Given the description of an element on the screen output the (x, y) to click on. 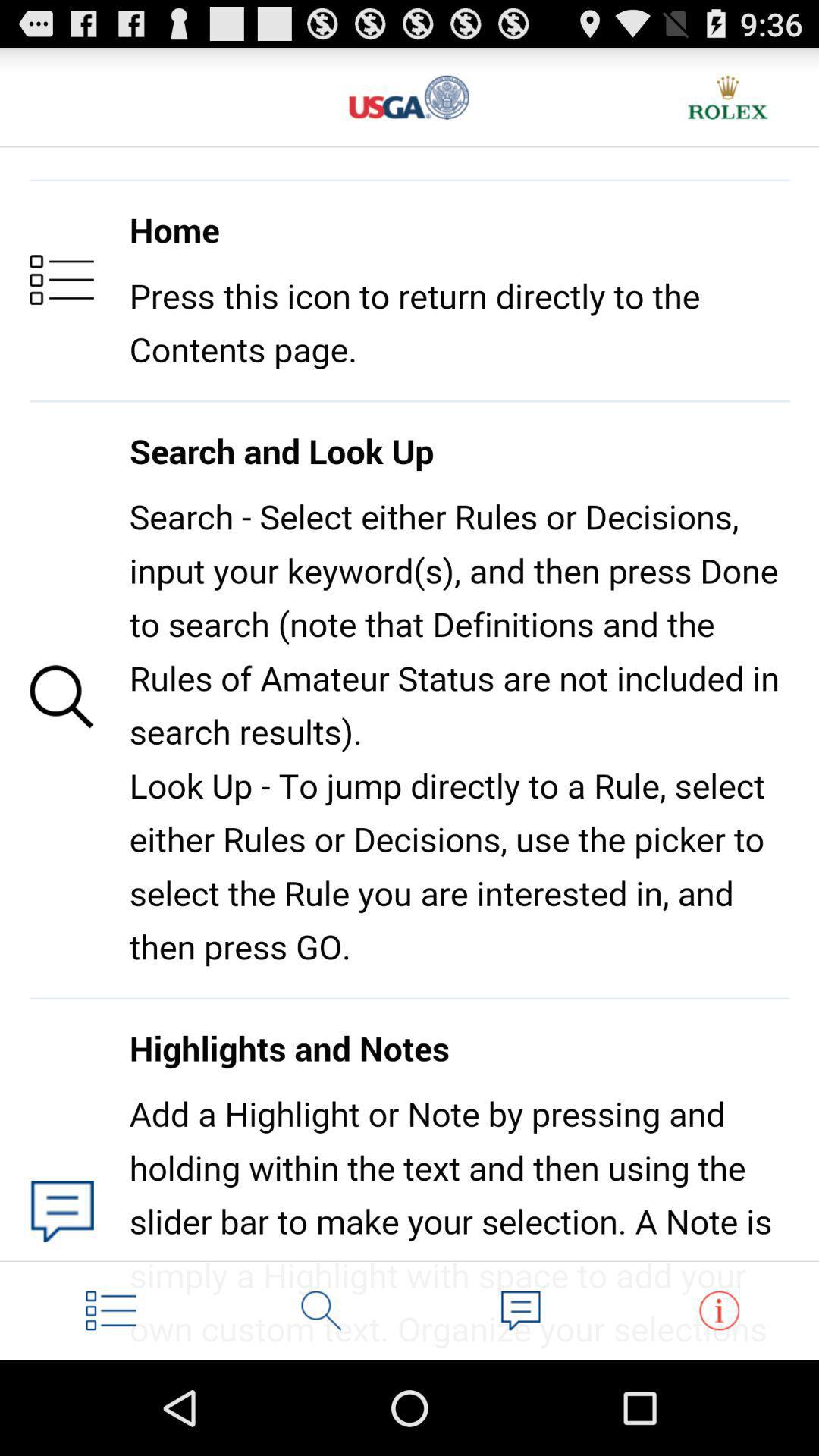
toggle menu (111, 1310)
